Given the description of an element on the screen output the (x, y) to click on. 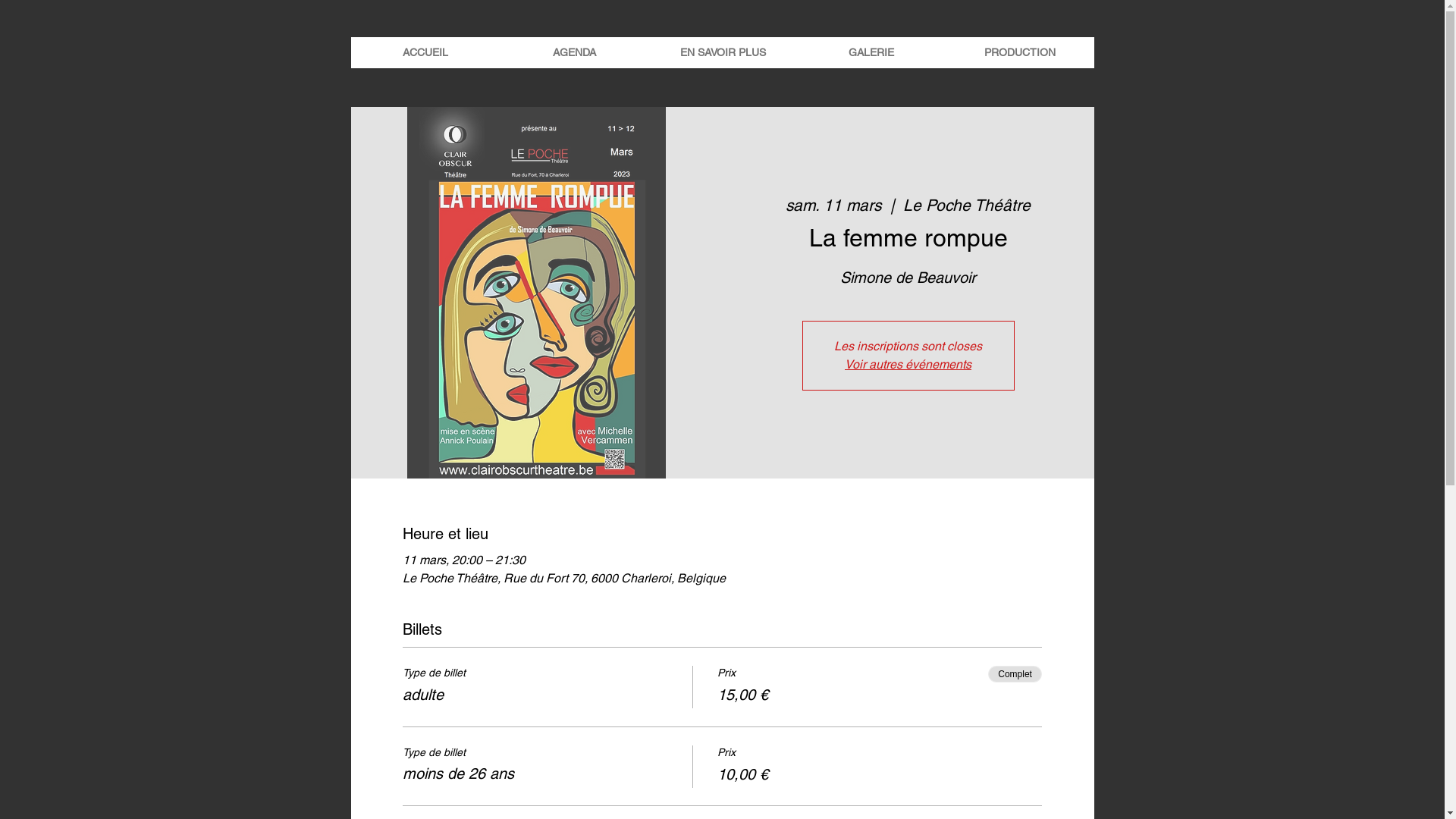
EN SAVOIR PLUS Element type: text (721, 52)
GALERIE Element type: text (870, 52)
ACCUEIL Element type: text (424, 52)
AGENDA Element type: text (572, 52)
PRODUCTION Element type: text (1018, 52)
